Given the description of an element on the screen output the (x, y) to click on. 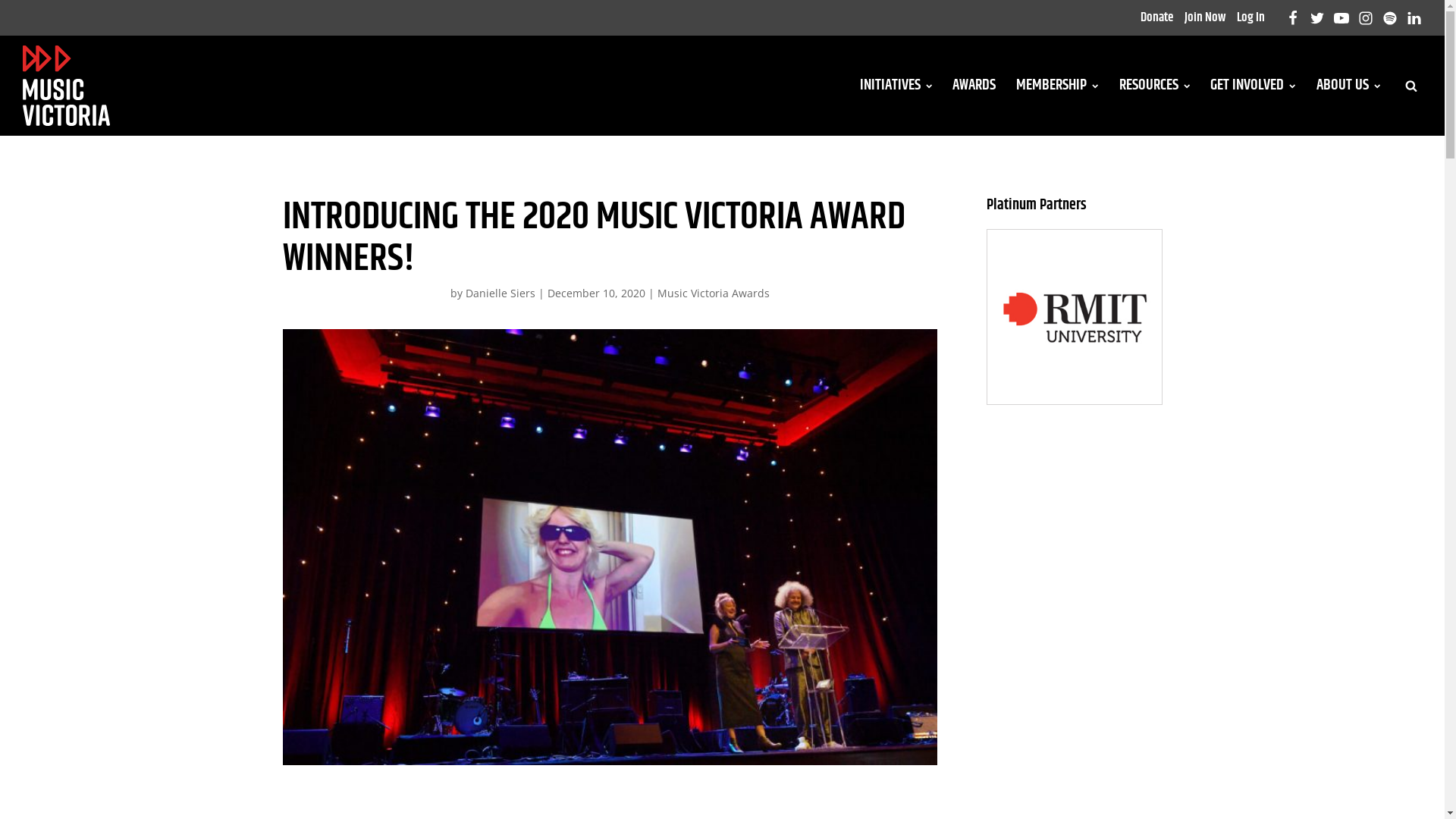
MEMBERSHIP Element type: text (1057, 85)
ABOUT US Element type: text (1348, 85)
GET INVOLVED Element type: text (1252, 85)
INITIATIVES Element type: text (895, 85)
Music Victoria Awards Element type: text (712, 292)
Log In Element type: text (1250, 17)
AWARDS Element type: text (973, 85)
Join Now Element type: text (1204, 17)
RESOURCES Element type: text (1154, 85)
Search Element type: text (25, 9)
Donate Element type: text (1156, 17)
